Given the description of an element on the screen output the (x, y) to click on. 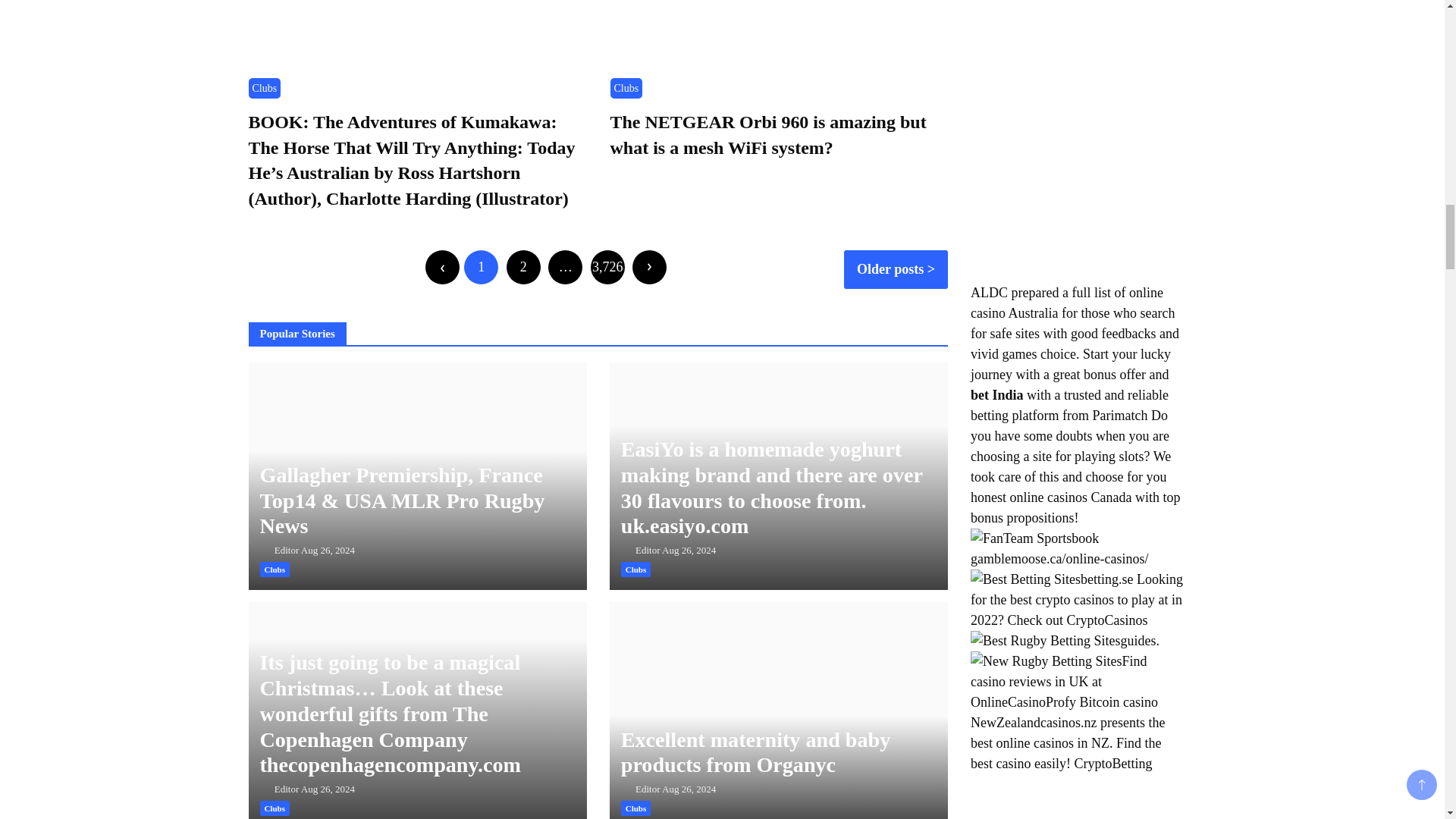
Best Rugby Betting Sites (1046, 640)
Best Betting Sites (1025, 579)
New Rugby Betting Sites (1046, 661)
FanTeam Sportsbook (1035, 538)
